Given the description of an element on the screen output the (x, y) to click on. 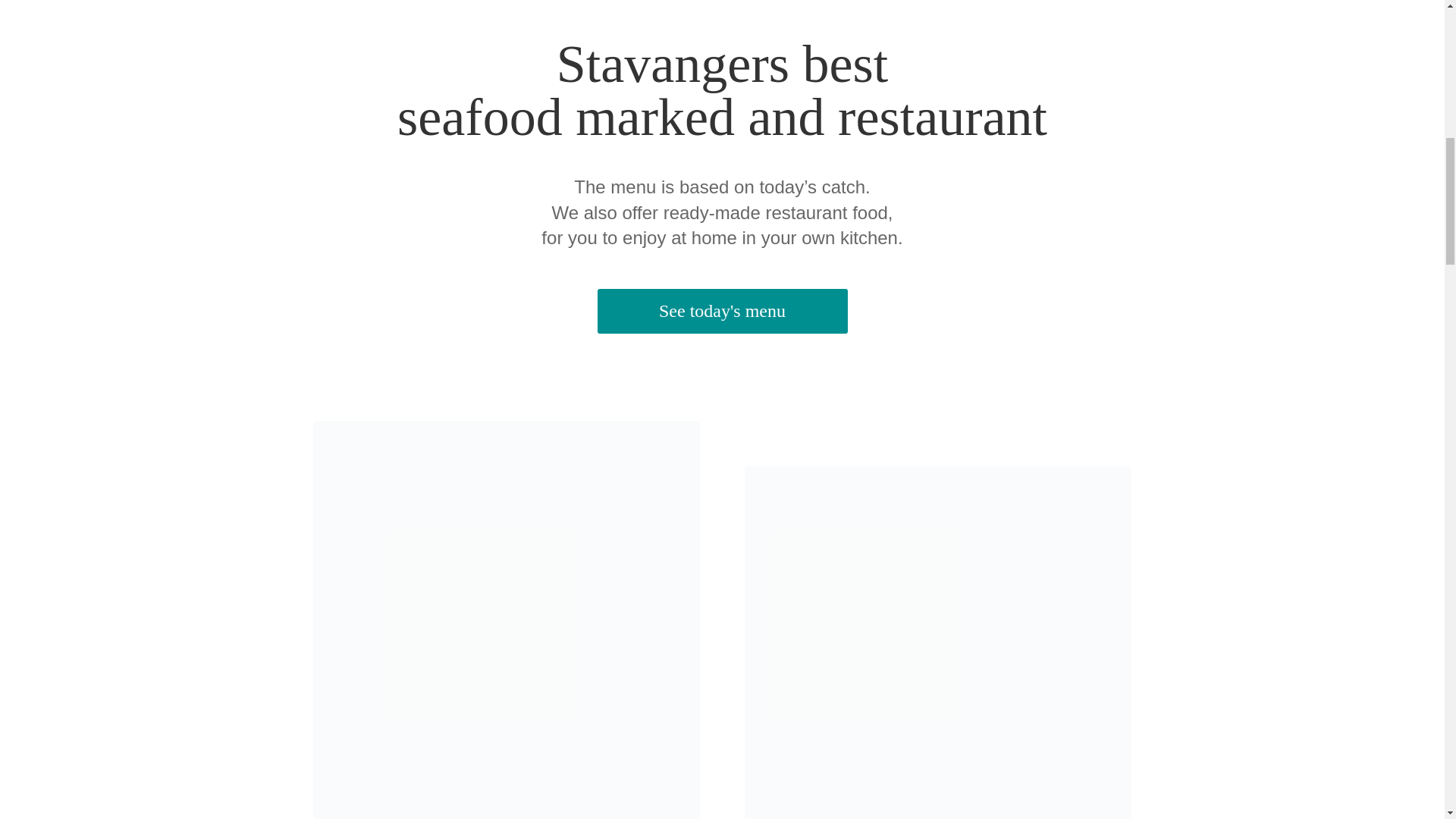
See today's menu (721, 311)
